Given the description of an element on the screen output the (x, y) to click on. 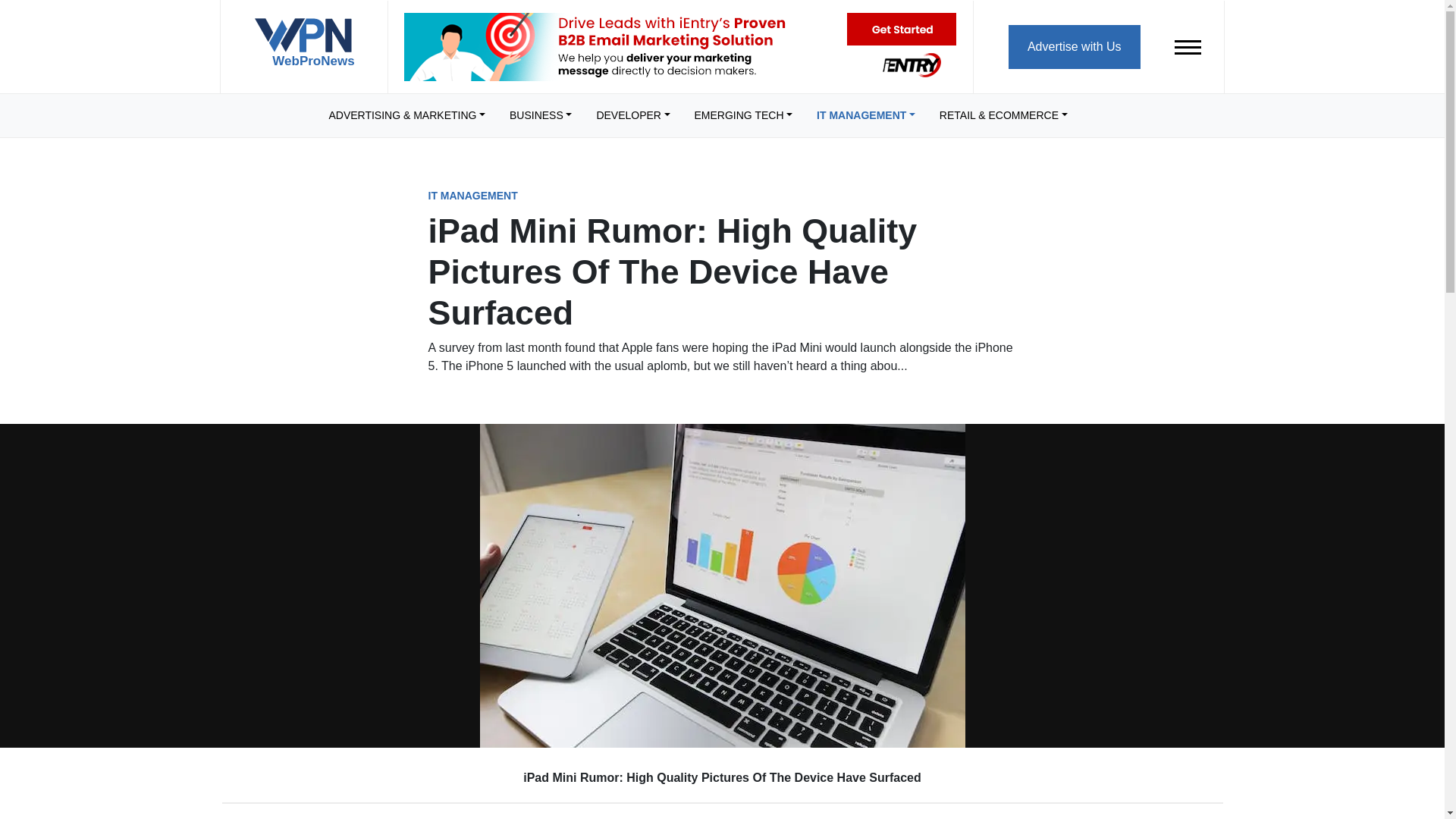
WebProNews (303, 49)
Advertise with Us (1074, 45)
